Given the description of an element on the screen output the (x, y) to click on. 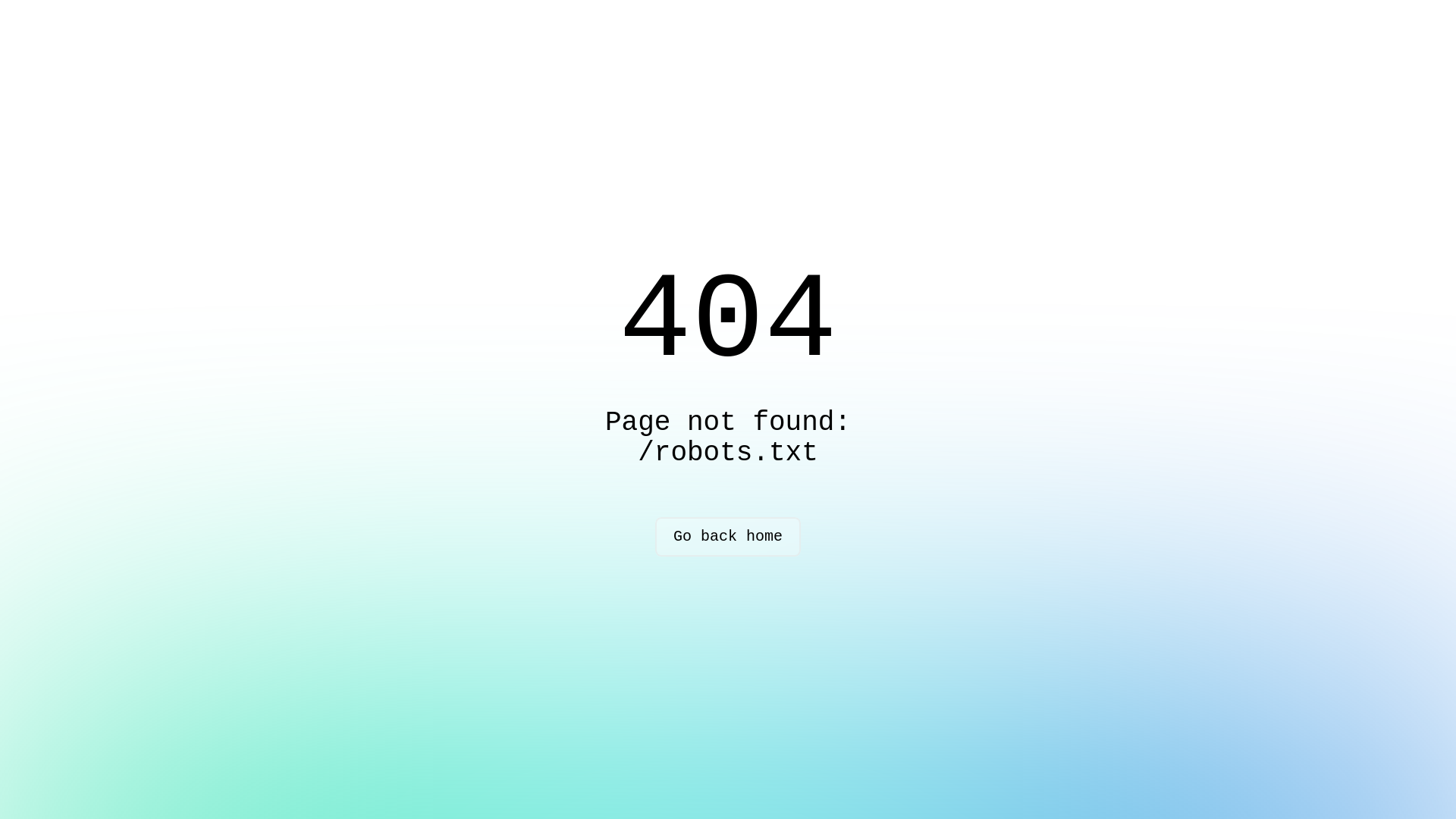
Go back home Element type: text (727, 536)
